Given the description of an element on the screen output the (x, y) to click on. 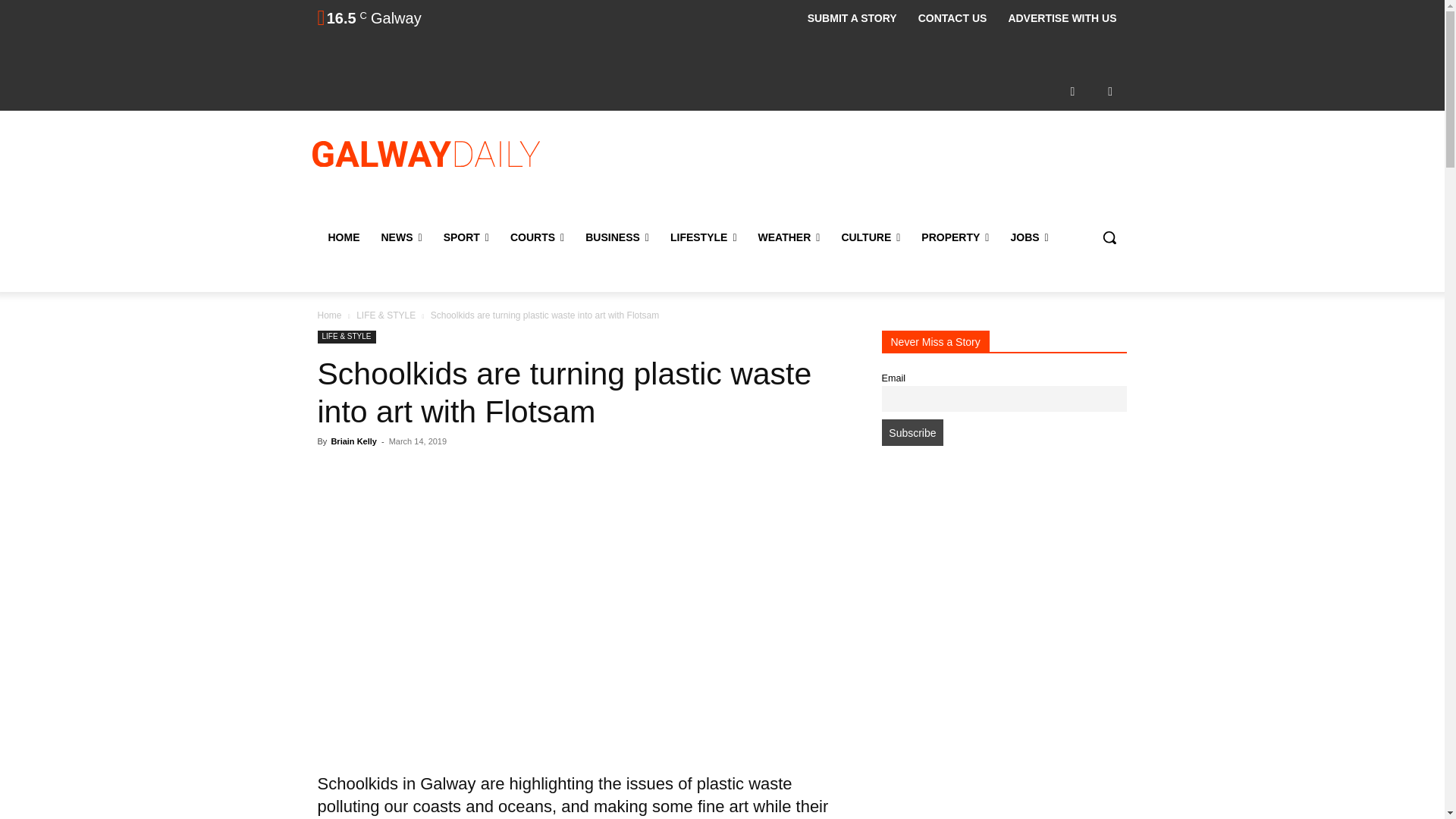
Facebook (1072, 91)
Twitter (1109, 91)
Advertisement (846, 172)
Subscribe (911, 432)
